Given the description of an element on the screen output the (x, y) to click on. 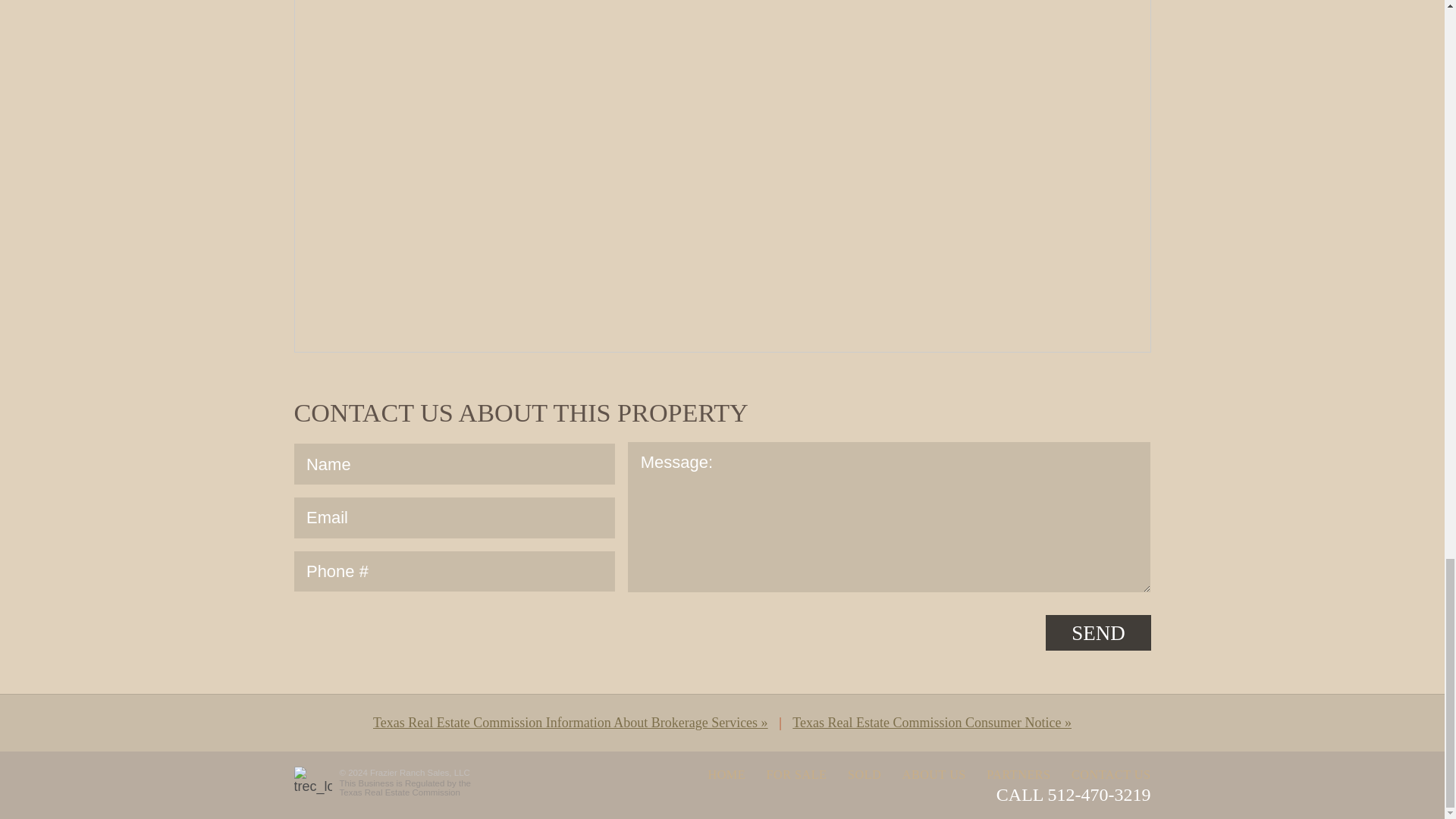
512-470-3219 (1099, 794)
Send (1097, 632)
FOR SALE (797, 775)
PARTNERS (1018, 775)
ABOUT US (934, 775)
SOLD (863, 775)
Send (1097, 632)
CONTACT US (1110, 775)
HOME (726, 775)
